Given the description of an element on the screen output the (x, y) to click on. 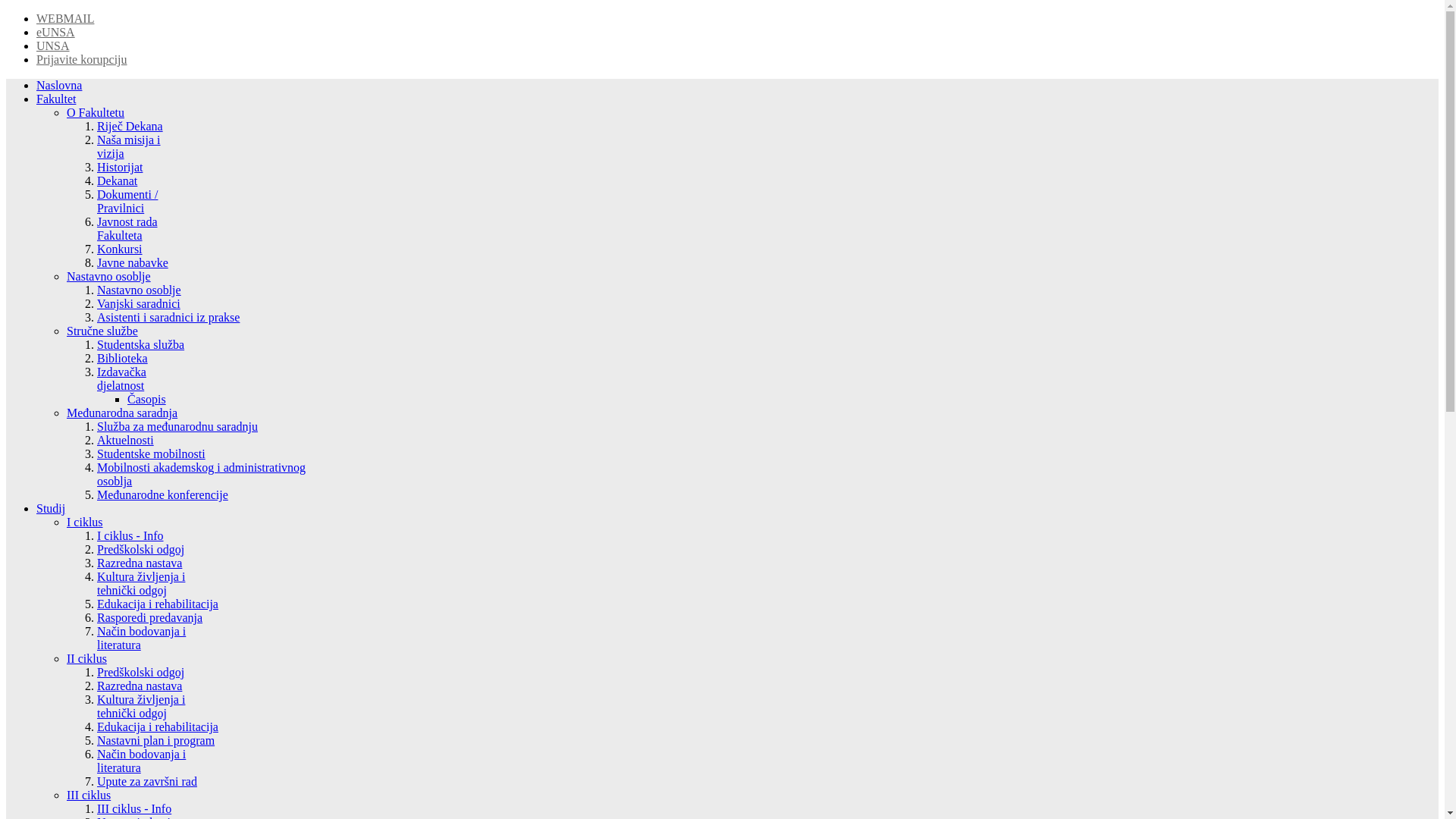
Asistenti i saradnici iz prakse Element type: text (168, 316)
Konkursi Element type: text (119, 248)
Studij Element type: text (50, 508)
Dokumenti / Pravilnici Element type: text (127, 201)
UNSA Element type: text (52, 45)
Edukacija i rehabilitacija Element type: text (157, 726)
Prijavite korupciju Element type: text (81, 59)
Dekanat Element type: text (117, 180)
Mobilnosti akademskog i administrativnog osoblja Element type: text (201, 474)
Rasporedi predavanja Element type: text (149, 617)
III ciklus - Info Element type: text (134, 808)
Javnost rada Fakulteta Element type: text (127, 228)
Razredna nastava Element type: text (139, 685)
Nastavni plan i program Element type: text (155, 740)
O Fakultetu Element type: text (95, 112)
Historijat Element type: text (119, 166)
Edukacija i rehabilitacija Element type: text (157, 603)
Fakultet Element type: text (55, 98)
Vanjski saradnici Element type: text (138, 303)
Biblioteka Element type: text (122, 357)
Aktuelnosti Element type: text (125, 439)
Javne nabavke Element type: text (132, 262)
Naslovna Element type: text (58, 84)
III ciklus Element type: text (88, 794)
Studentske mobilnosti Element type: text (151, 453)
Razredna nastava Element type: text (139, 562)
Nastavno osoblje Element type: text (108, 275)
I ciklus Element type: text (84, 521)
I ciklus - Info Element type: text (130, 535)
eUNSA Element type: text (55, 31)
Nastavno osoblje Element type: text (139, 289)
WEBMAIL Element type: text (65, 18)
II ciklus Element type: text (86, 658)
